Given the description of an element on the screen output the (x, y) to click on. 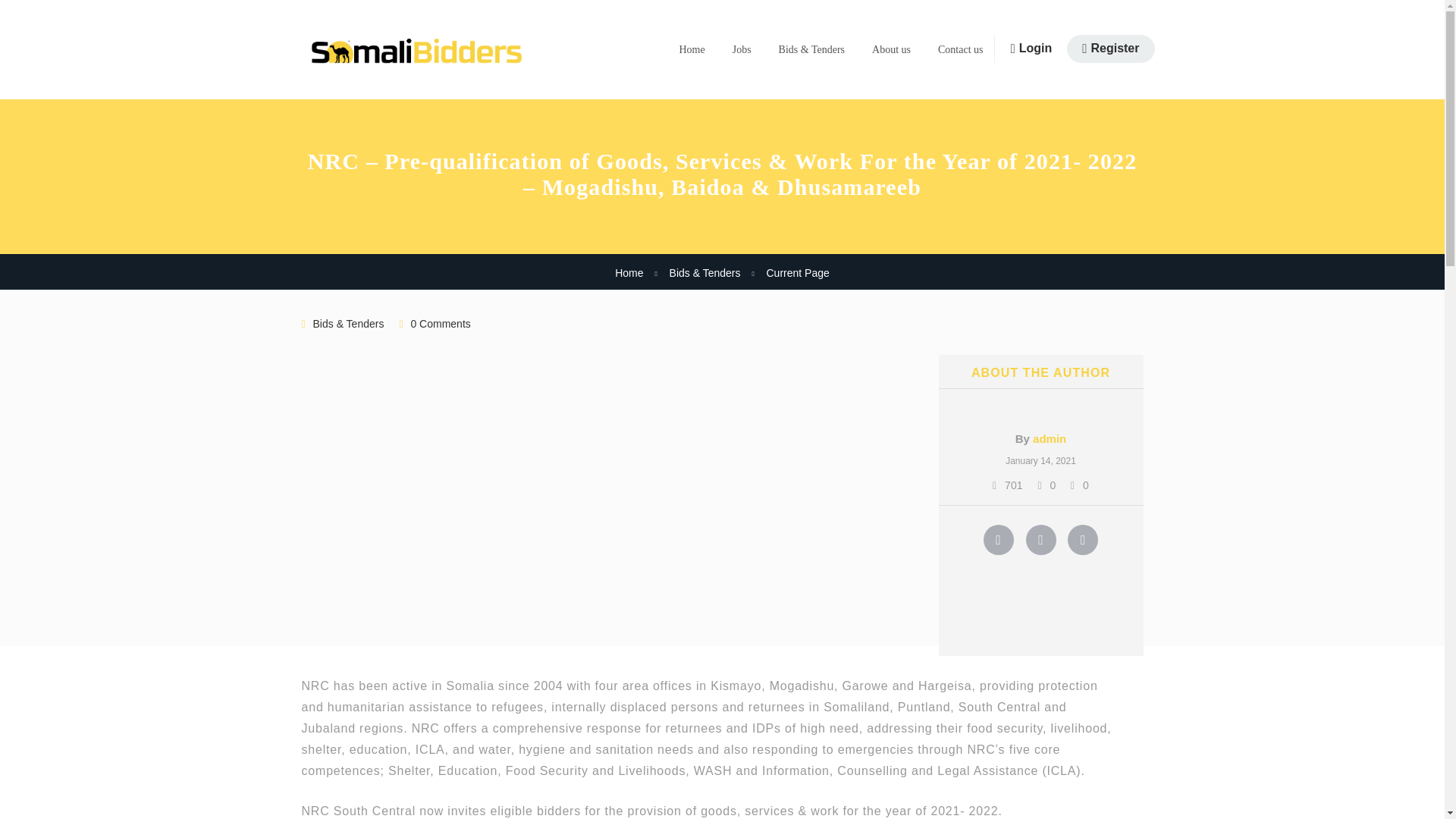
0 (1045, 485)
Somali Bidders (416, 50)
0 Comments (440, 323)
Home (628, 272)
admin (1048, 438)
Login (1030, 49)
0 (1079, 485)
Register (1110, 49)
